Given the description of an element on the screen output the (x, y) to click on. 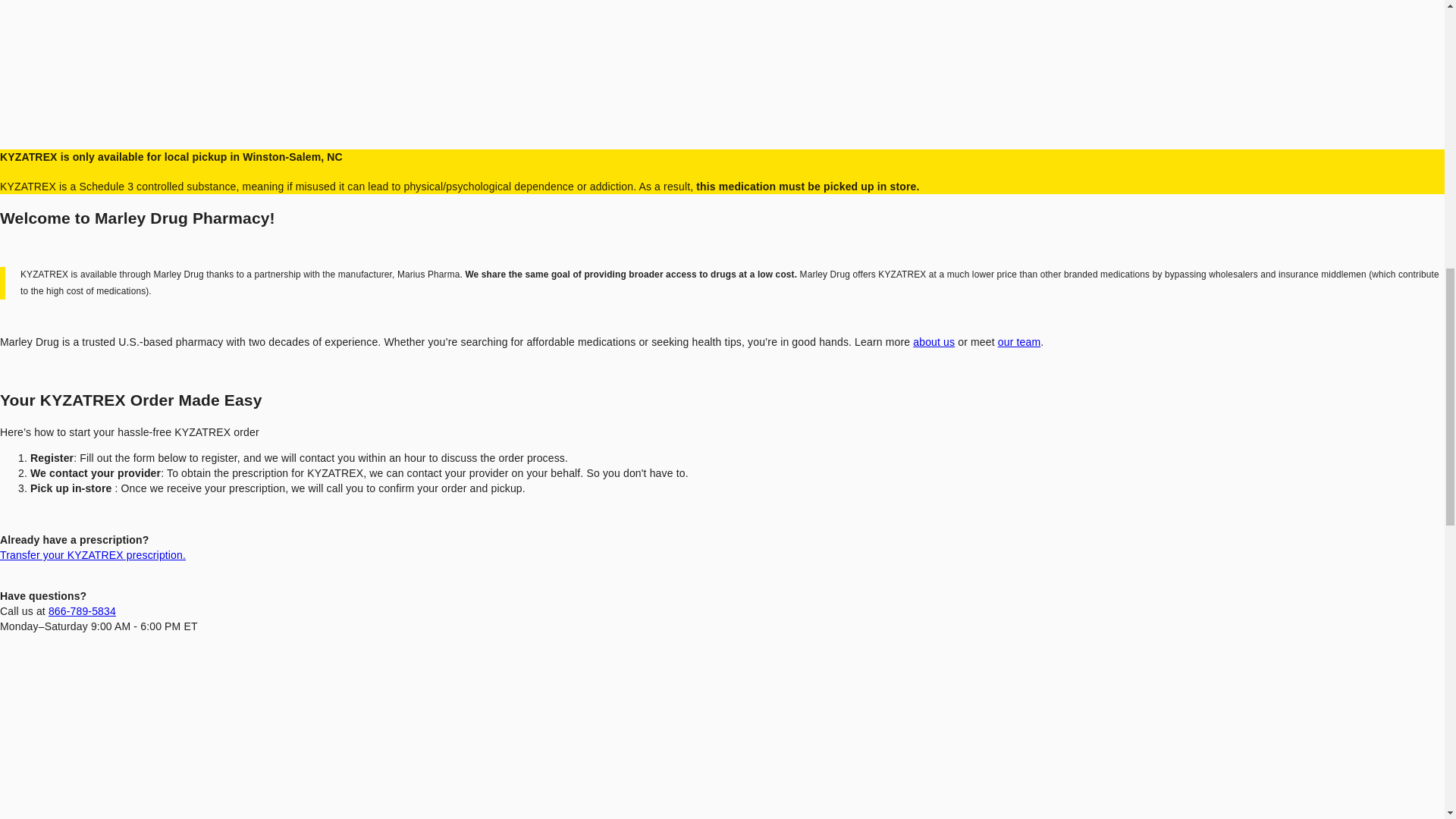
our team (1019, 341)
866-789-5834 (82, 611)
about us (933, 341)
Transfer your KYZATREX prescription. (93, 554)
